Given the description of an element on the screen output the (x, y) to click on. 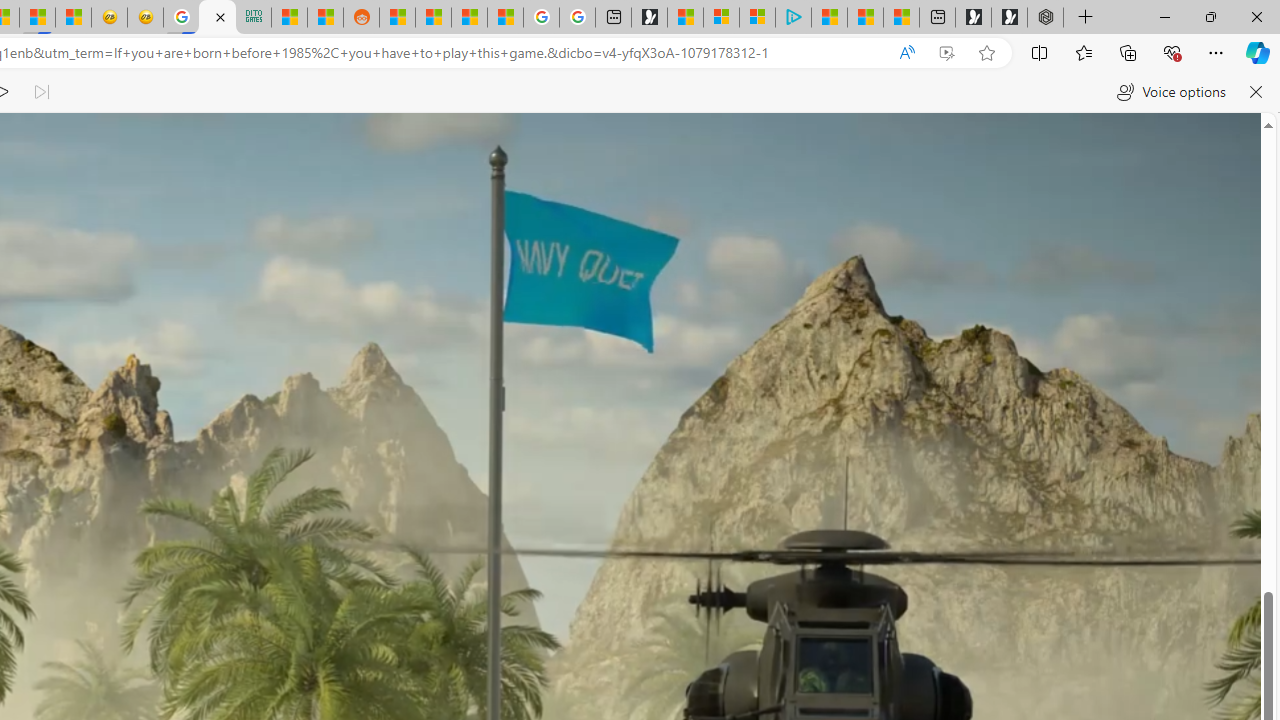
Read next paragraph (40, 92)
Voice options (1170, 92)
Close read aloud (1255, 92)
